Given the description of an element on the screen output the (x, y) to click on. 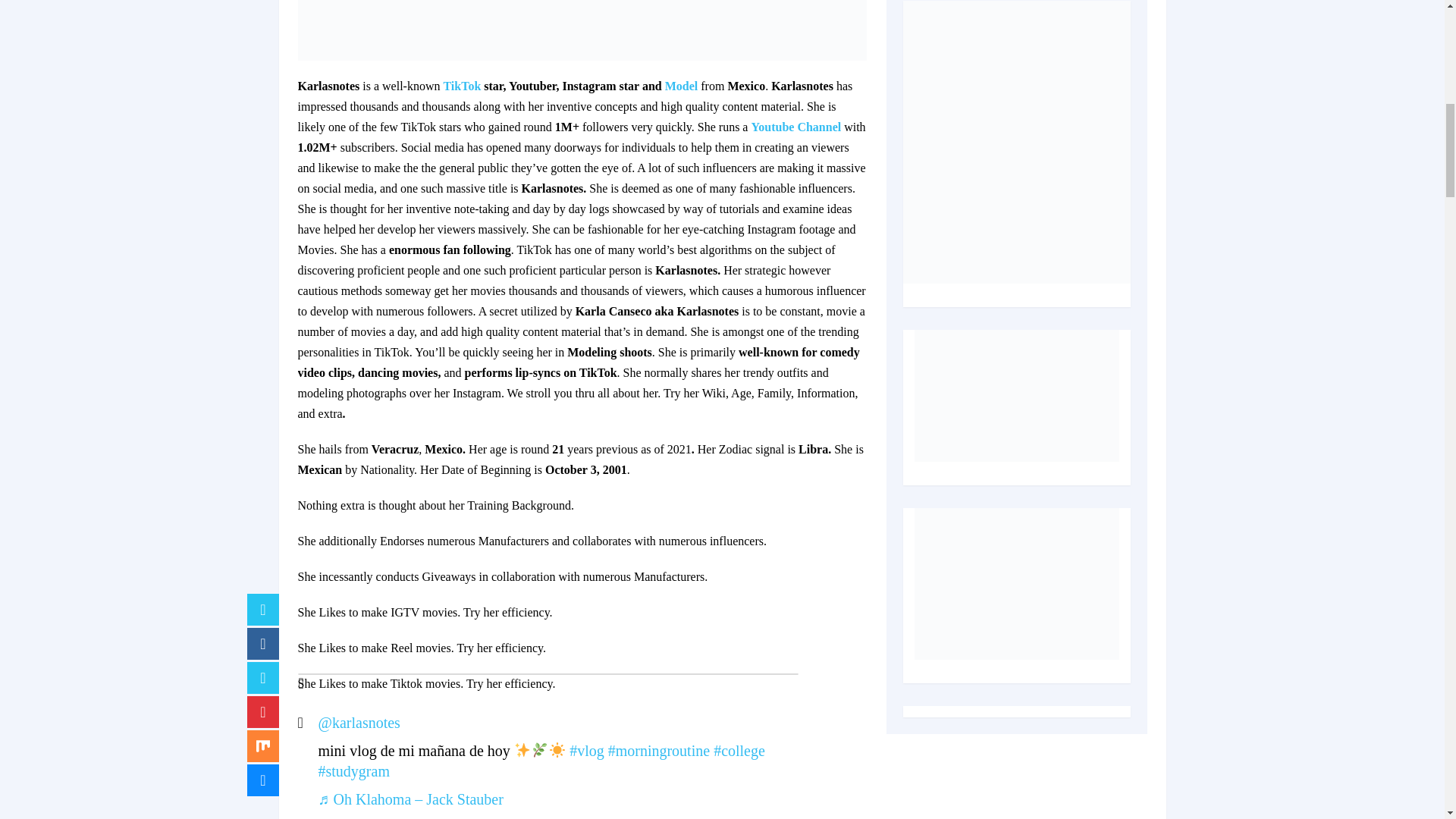
morningroutine (659, 750)
Vlog (586, 750)
Antje Utgaard Wiki (681, 85)
school (739, 750)
Laura Gaspar Wiki (461, 85)
Youtube Channel (796, 126)
Model (681, 85)
TikTok (461, 85)
